Given the description of an element on the screen output the (x, y) to click on. 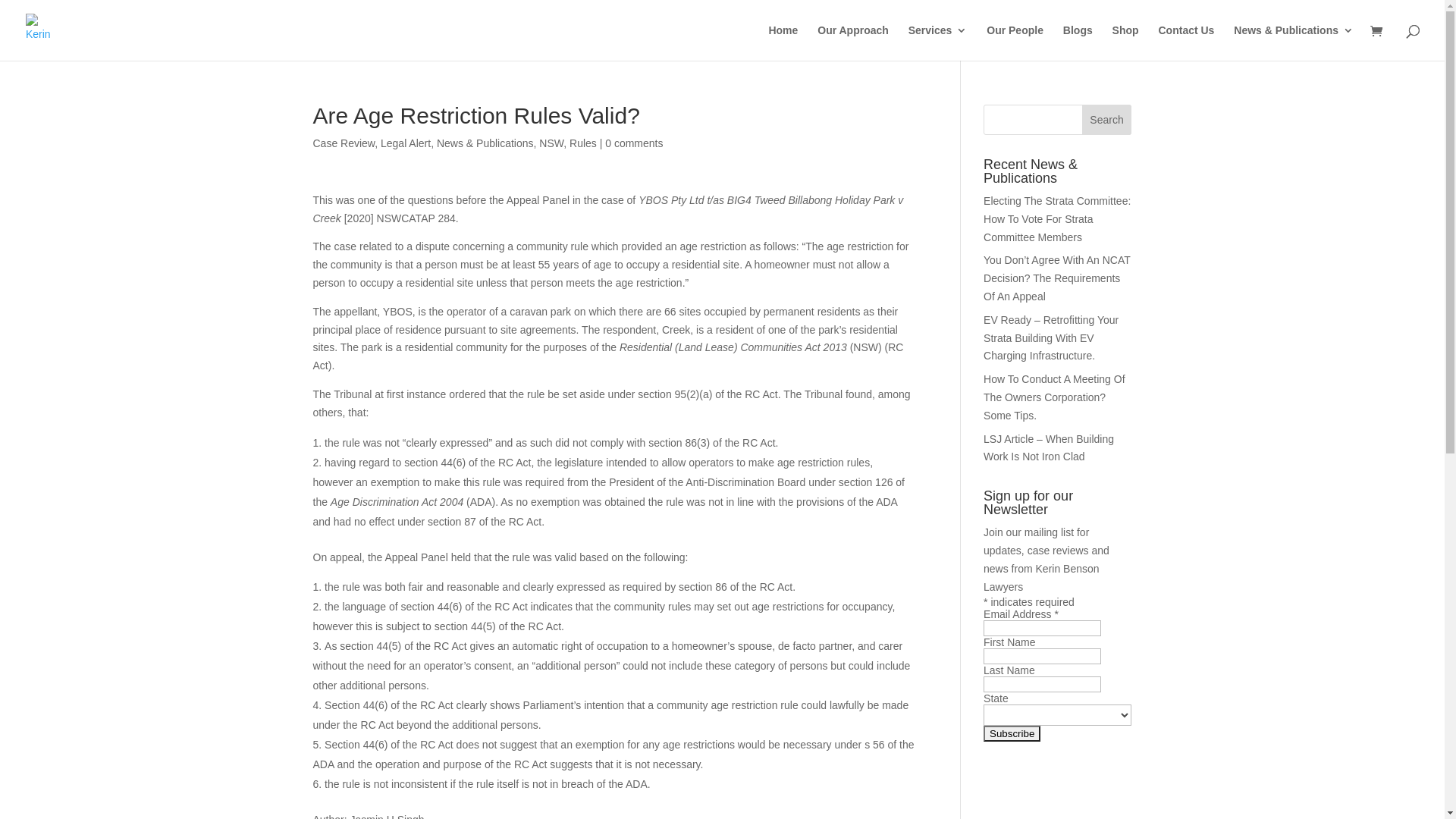
Shop Element type: text (1125, 42)
0 comments Element type: text (633, 143)
Rules Element type: text (582, 143)
Search Element type: text (1107, 119)
Blogs Element type: text (1077, 42)
Our People Element type: text (1014, 42)
Case Review Element type: text (343, 143)
Our Approach Element type: text (852, 42)
News & Publications Element type: text (484, 143)
Subscribe Element type: text (1011, 733)
Services Element type: text (937, 42)
Legal Alert Element type: text (405, 143)
News & Publications Element type: text (1293, 42)
Contact Us Element type: text (1186, 42)
NSW Element type: text (551, 143)
Home Element type: text (782, 42)
